Given the description of an element on the screen output the (x, y) to click on. 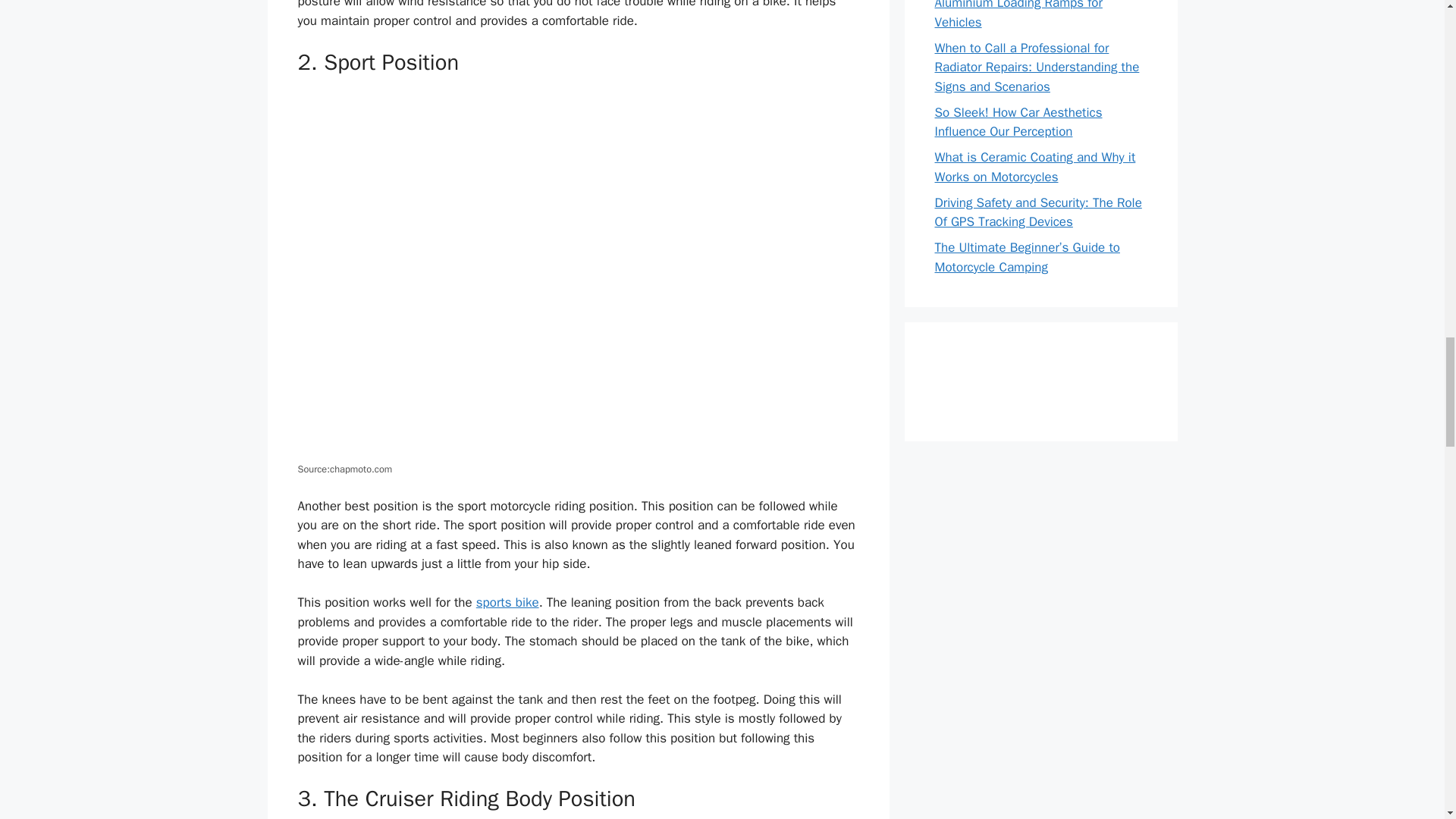
sports bike (507, 602)
